Given the description of an element on the screen output the (x, y) to click on. 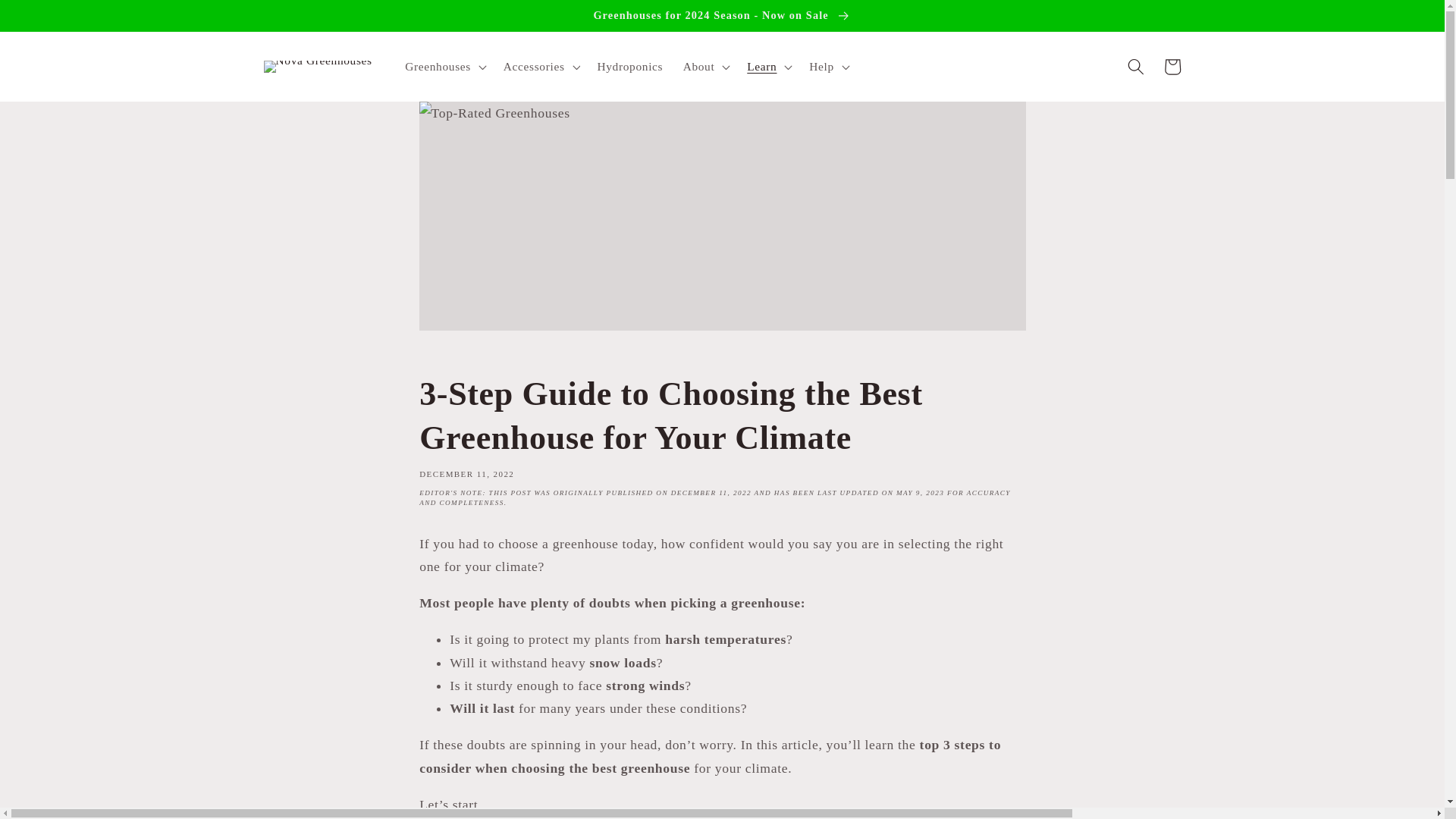
Hydroponics (629, 66)
Greenhouses for 2024 Season - Now on Sale (722, 15)
Skip to content (50, 19)
